Given the description of an element on the screen output the (x, y) to click on. 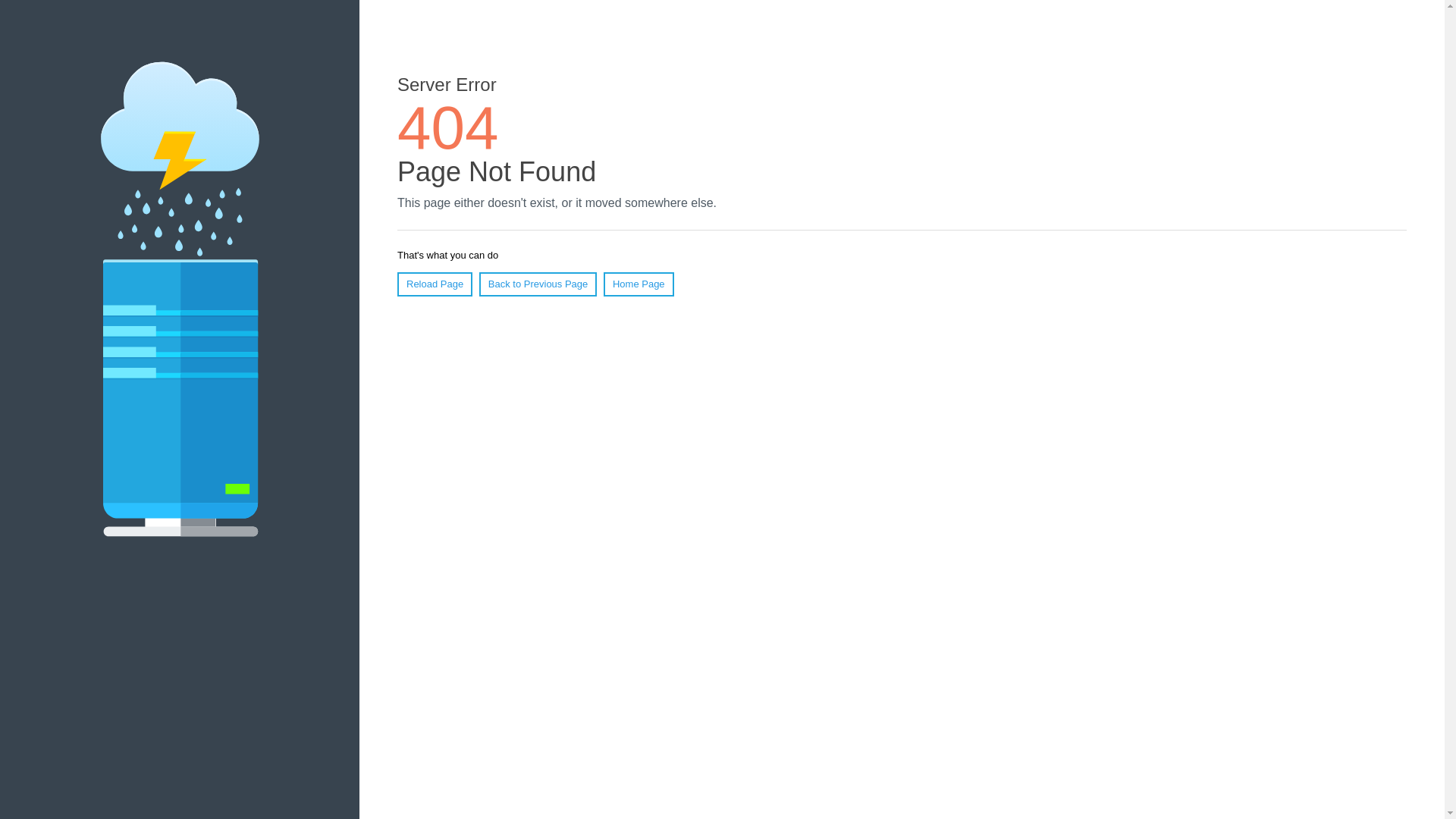
Home Page Element type: text (638, 284)
Back to Previous Page Element type: text (538, 284)
Reload Page Element type: text (434, 284)
